Given the description of an element on the screen output the (x, y) to click on. 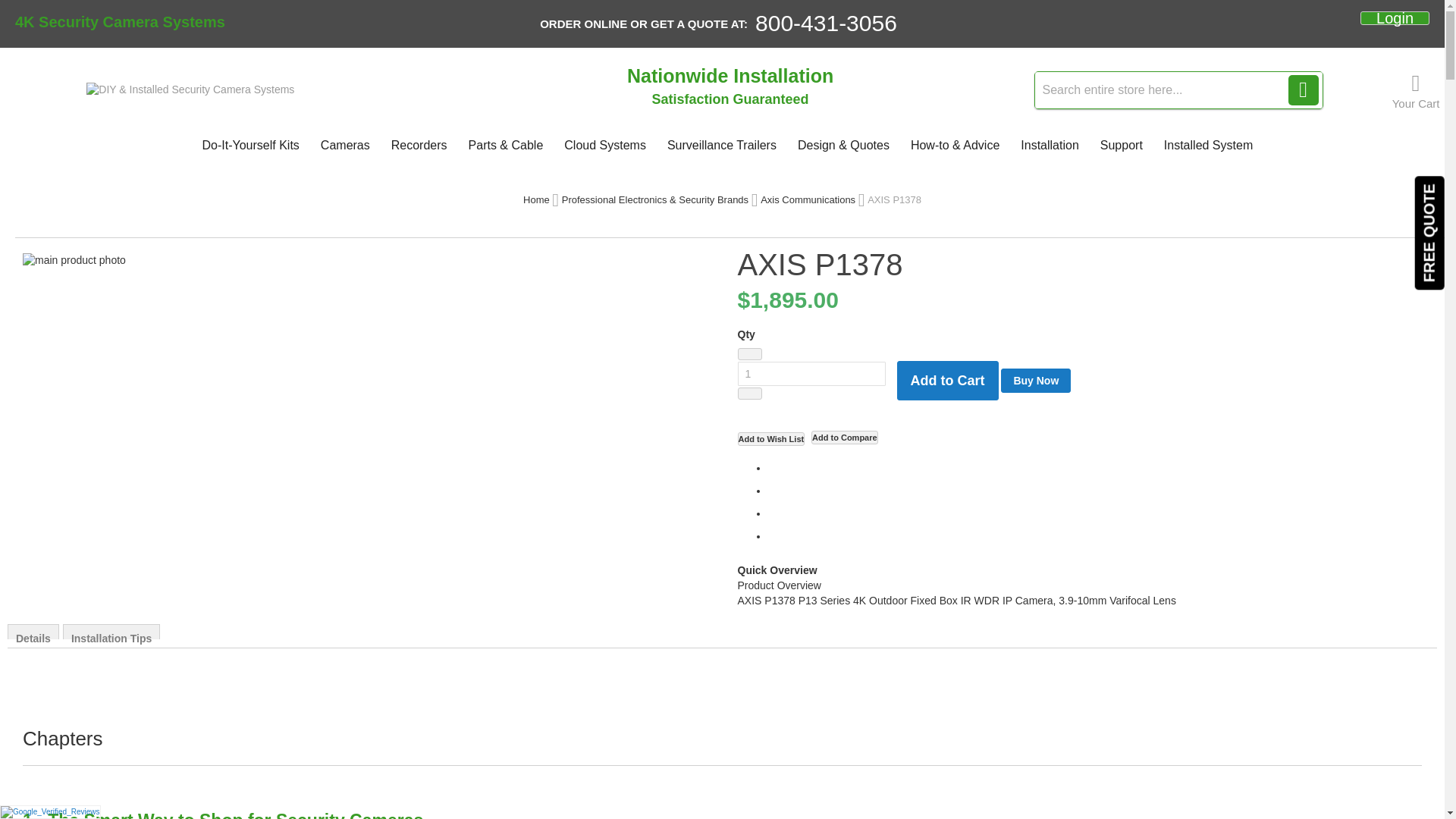
Cameras (345, 144)
Login (1394, 17)
Login (1394, 17)
800-431-3056 (826, 23)
Decrease (748, 354)
Search (1303, 90)
Qty (810, 372)
Do-It-Yourself Kits (249, 144)
Increase (748, 393)
Your Cart (1415, 90)
